Given the description of an element on the screen output the (x, y) to click on. 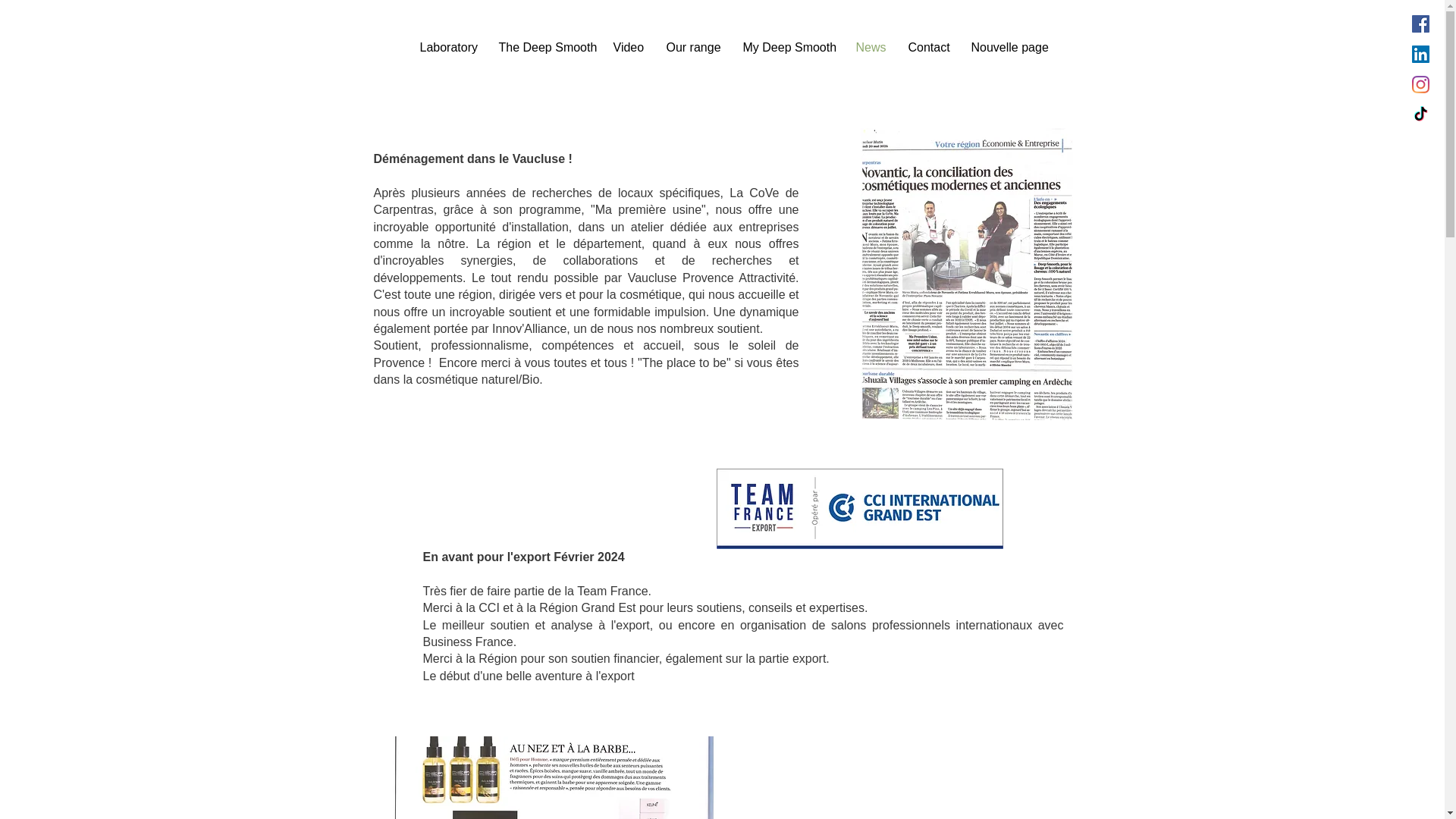
News (870, 47)
Video (628, 47)
Contact (927, 47)
Nouvelle page (1009, 47)
The Deep Smooth (543, 47)
My Deep Smooth (787, 47)
Our range (693, 47)
Laboratory (446, 47)
